Given the description of an element on the screen output the (x, y) to click on. 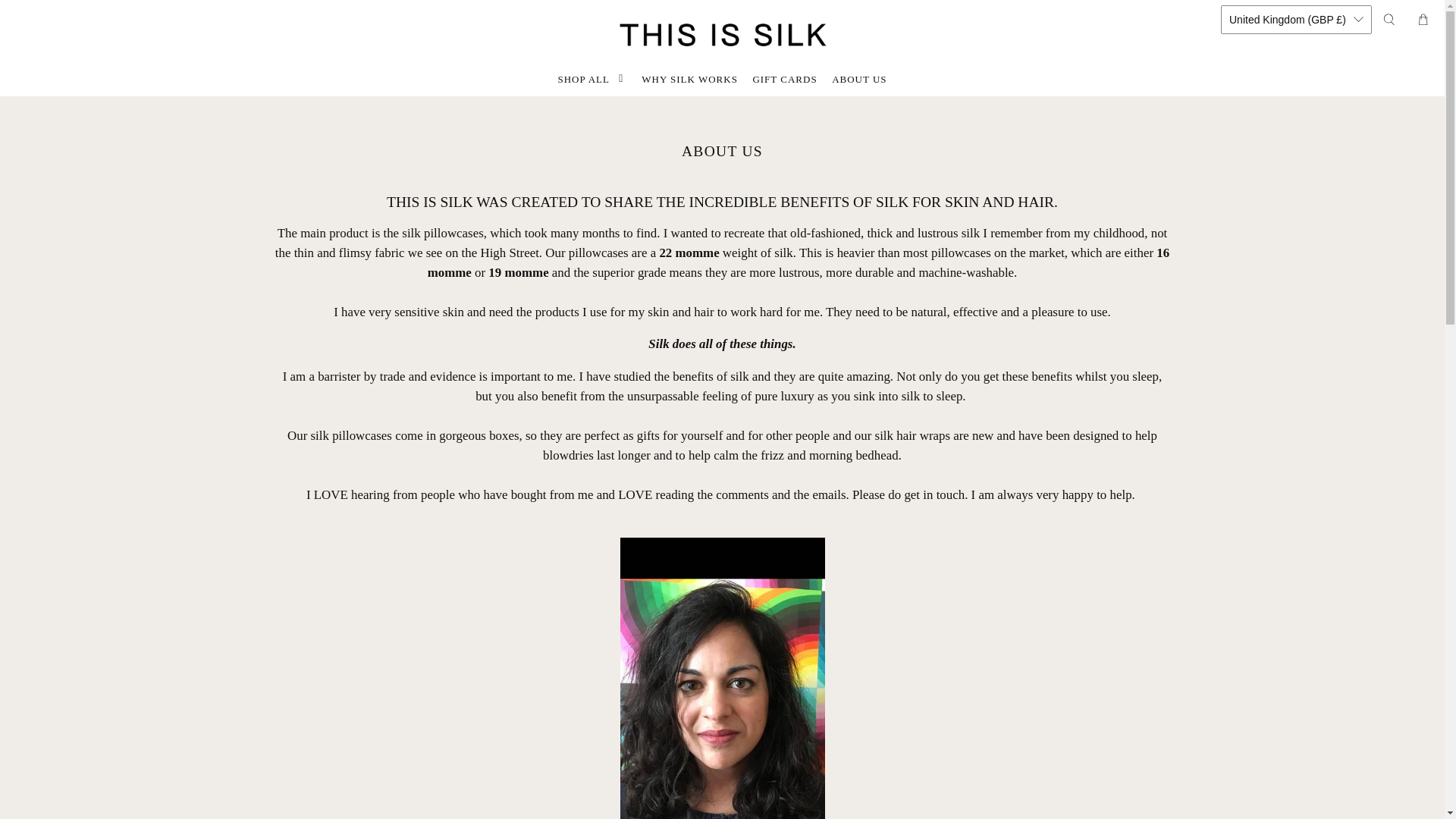
BW (1290, 809)
AL (1290, 106)
AX (1290, 79)
ThisIsSilk (721, 34)
AU (1290, 391)
AO (1290, 188)
AG (1290, 249)
AT (1290, 419)
BM (1290, 691)
AW (1290, 337)
AD (1290, 161)
BB (1290, 555)
AC (1290, 364)
AR (1290, 282)
AI (1290, 216)
